Given the description of an element on the screen output the (x, y) to click on. 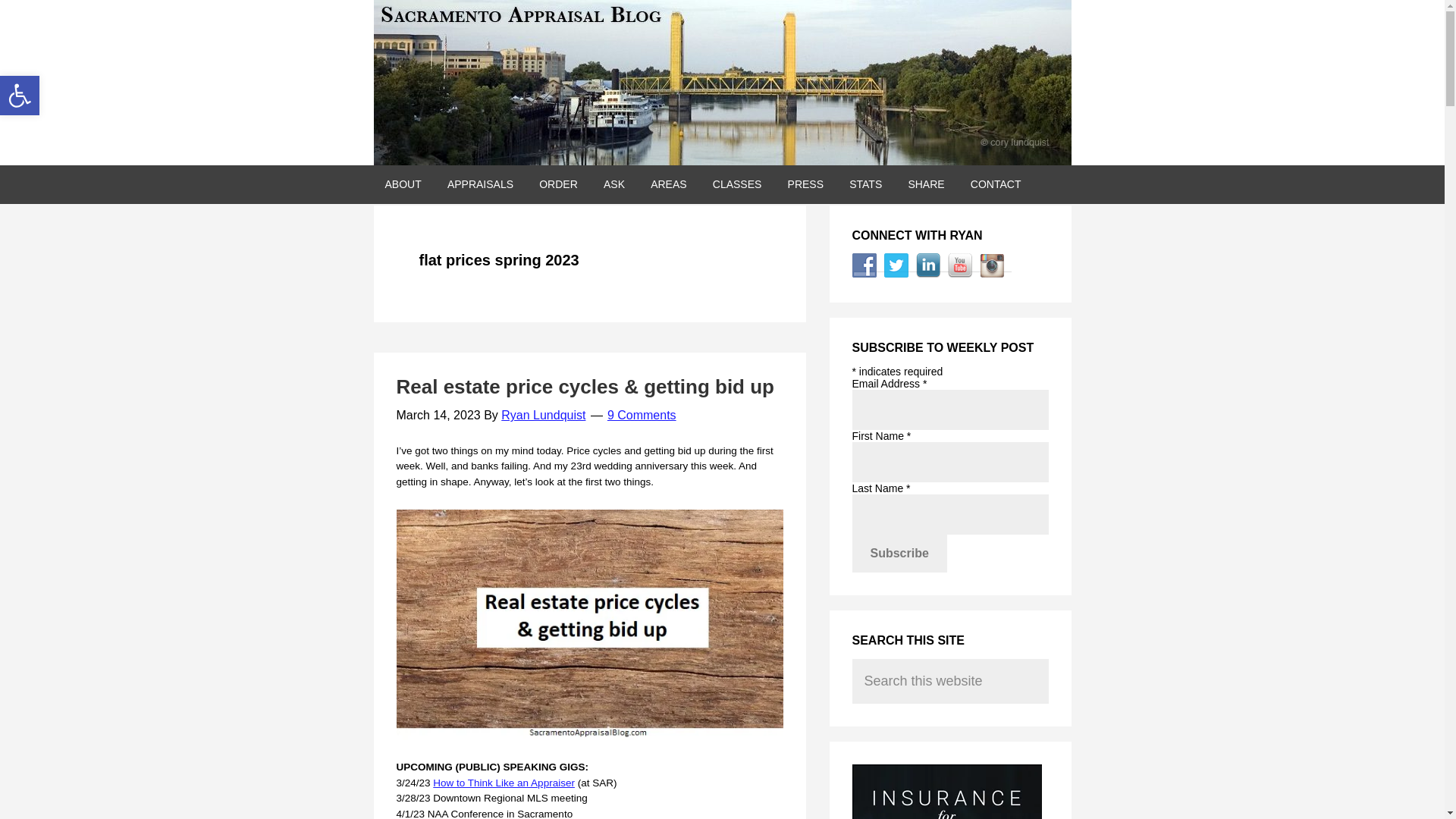
PRESS (805, 184)
Accessibility Tools (19, 95)
APPRAISALS (479, 184)
Subscribe (899, 553)
ORDER (558, 184)
